Given the description of an element on the screen output the (x, y) to click on. 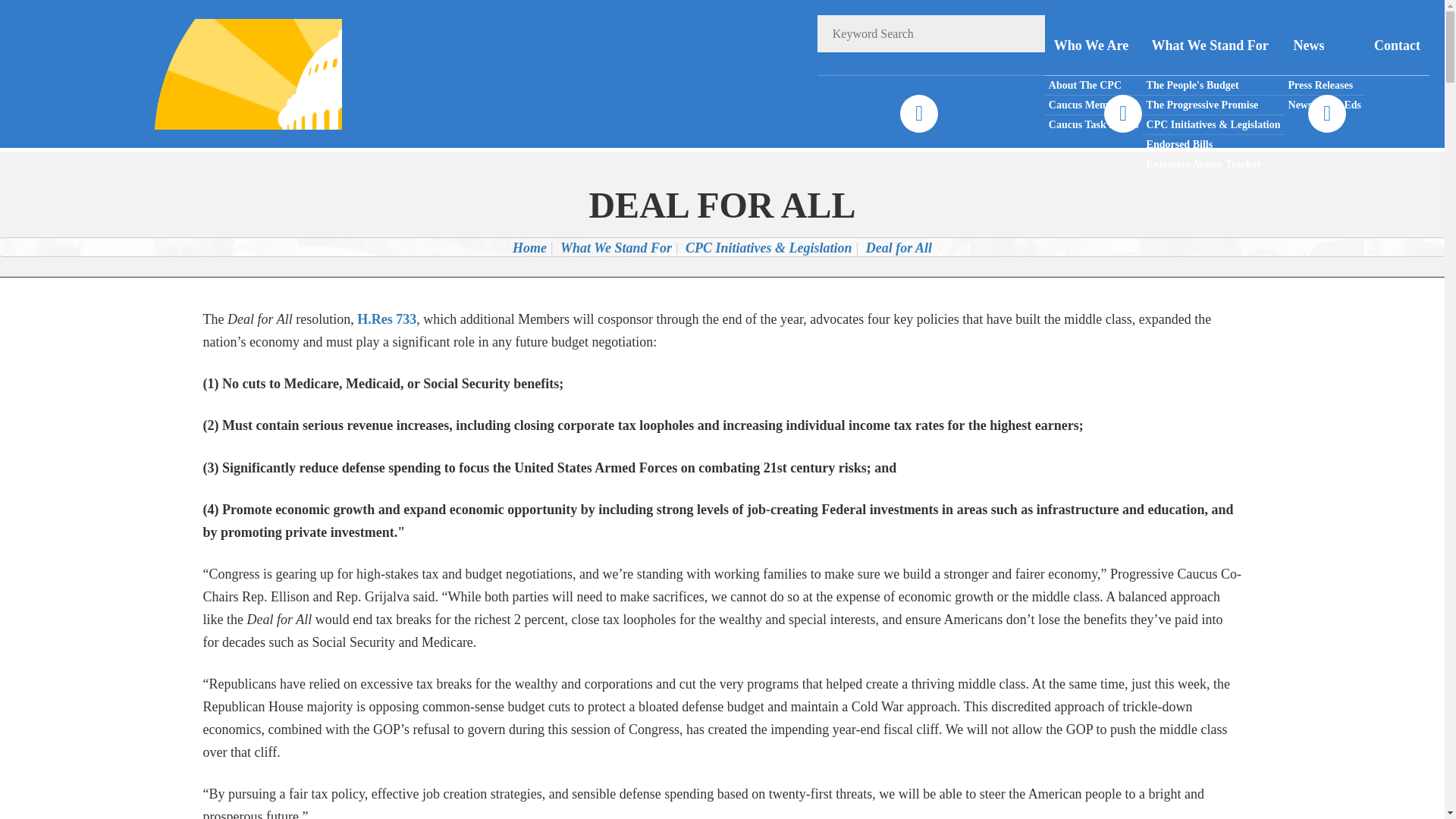
Caucus Members (1093, 105)
Executive Action Tracker (1213, 163)
What We Stand For (615, 247)
News (1324, 45)
Who We Are (1093, 45)
DEAL FOR ALL (722, 205)
CONGRESSIONAL PROGRESSIVE CAUCUS (228, 73)
YouTube (1326, 113)
Facebook (918, 113)
Contact (1397, 45)
Twitter (1122, 113)
What We Stand For (1213, 45)
Home (529, 247)
H.Res 733 (386, 319)
Caucus Task Forces (1093, 124)
